Given the description of an element on the screen output the (x, y) to click on. 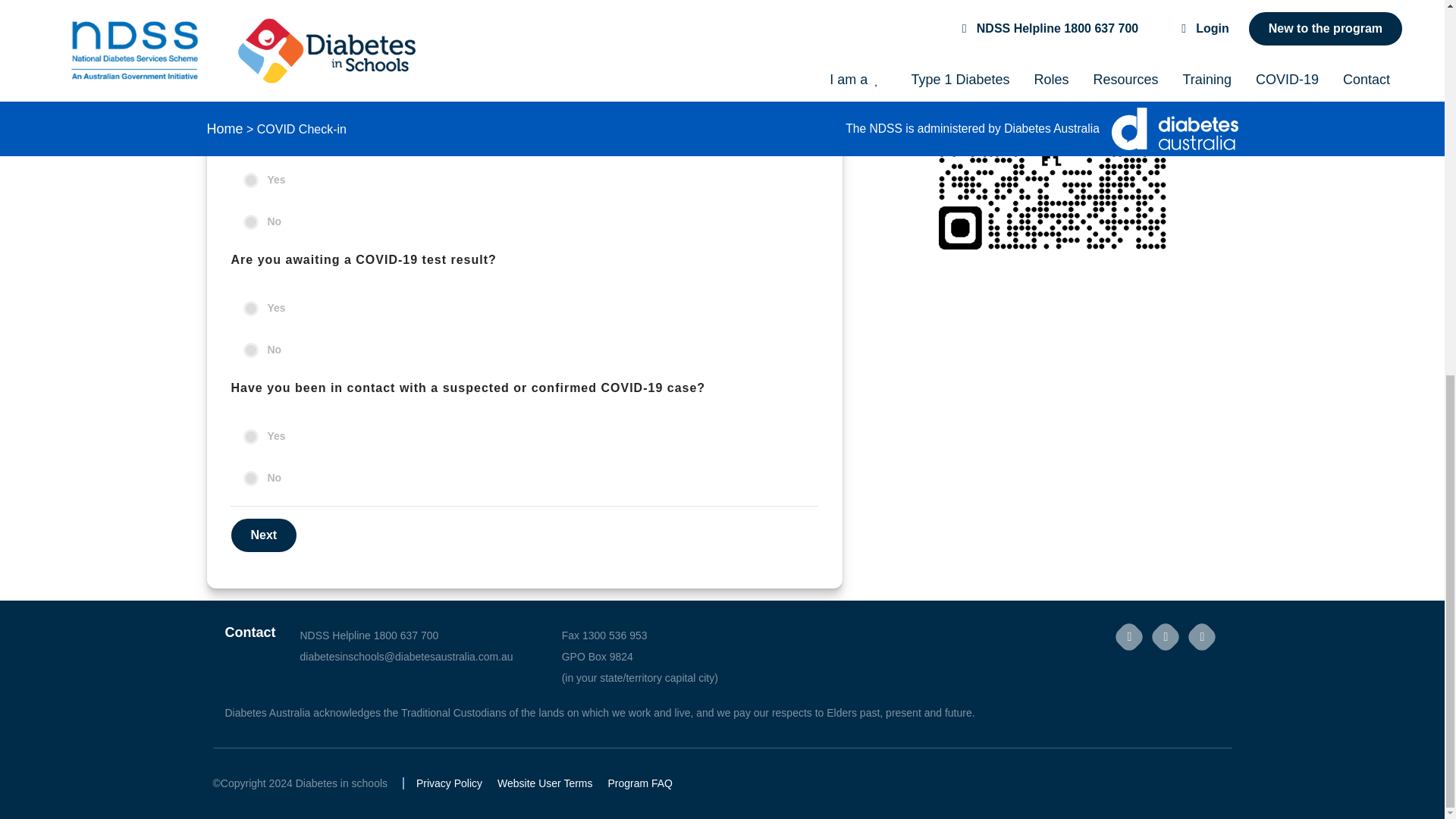
Website User Terms (544, 782)
Program FAQ (639, 782)
NDSS Helpline 1800 637 700 (406, 635)
Next (263, 535)
Privacy Policy (448, 782)
